Given the description of an element on the screen output the (x, y) to click on. 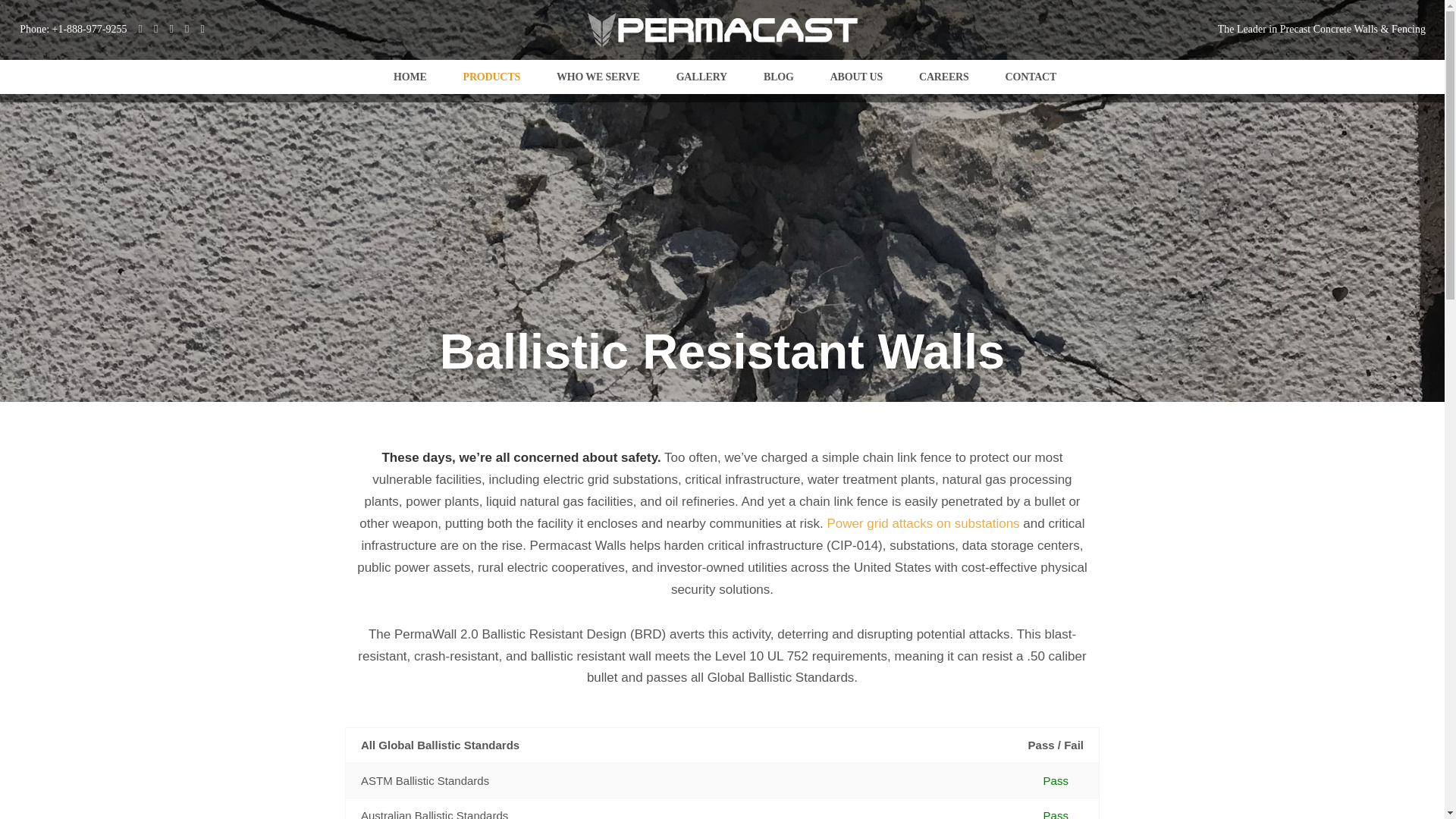
CAREERS (941, 76)
PRODUCTS (488, 76)
BLOG (775, 76)
CONTACT (1029, 76)
ABOUT US (853, 76)
HOME (407, 76)
GALLERY (699, 76)
WHO WE SERVE (595, 76)
Permacast Walls (407, 76)
U (989, 413)
